Given the description of an element on the screen output the (x, y) to click on. 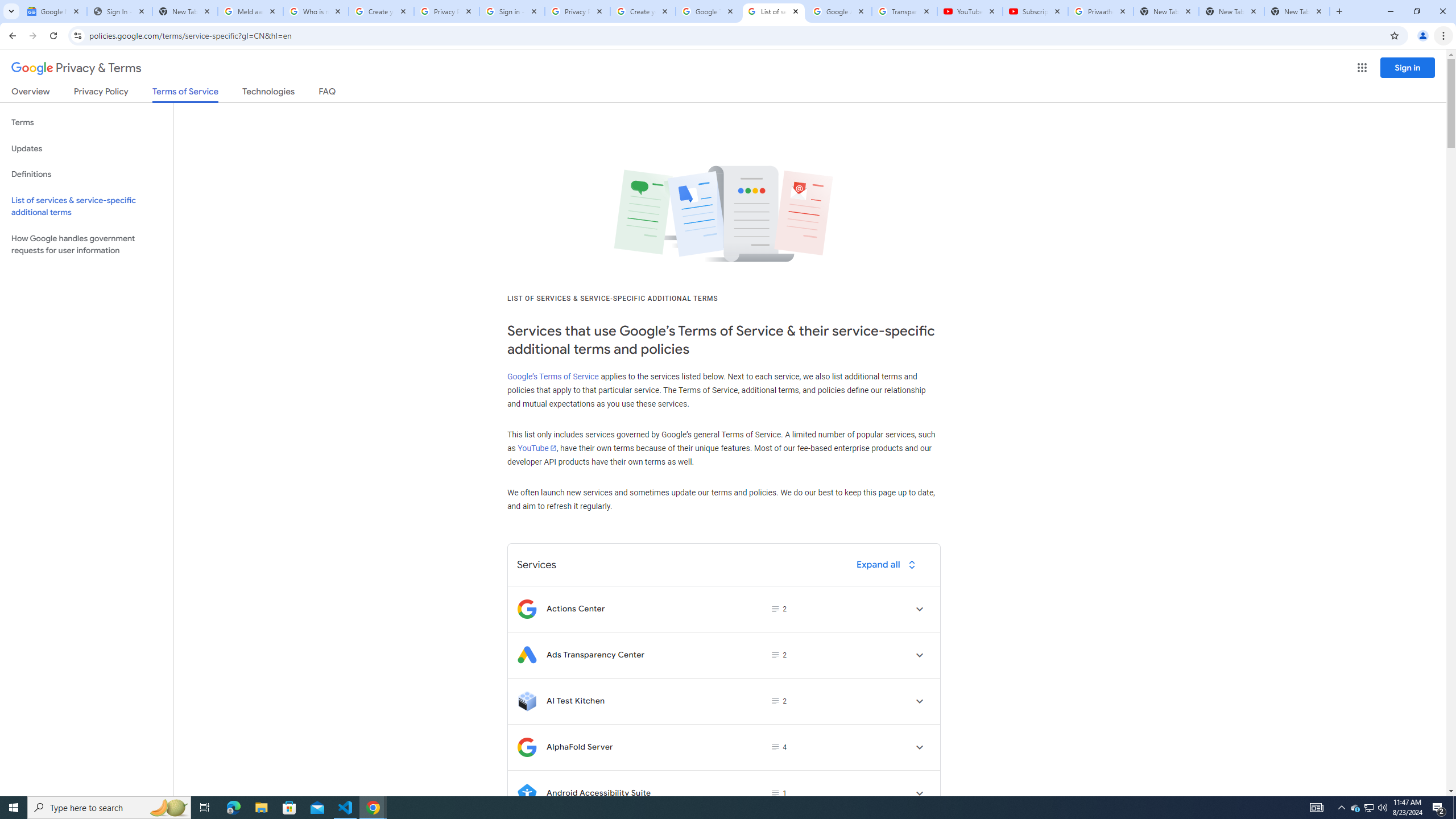
Sign in - Google Accounts (512, 11)
New Tab (1297, 11)
How Google handles government requests for user information (86, 244)
Definitions (86, 174)
Logo for AlphaFold Server (526, 746)
Sign In - USA TODAY (119, 11)
